Given the description of an element on the screen output the (x, y) to click on. 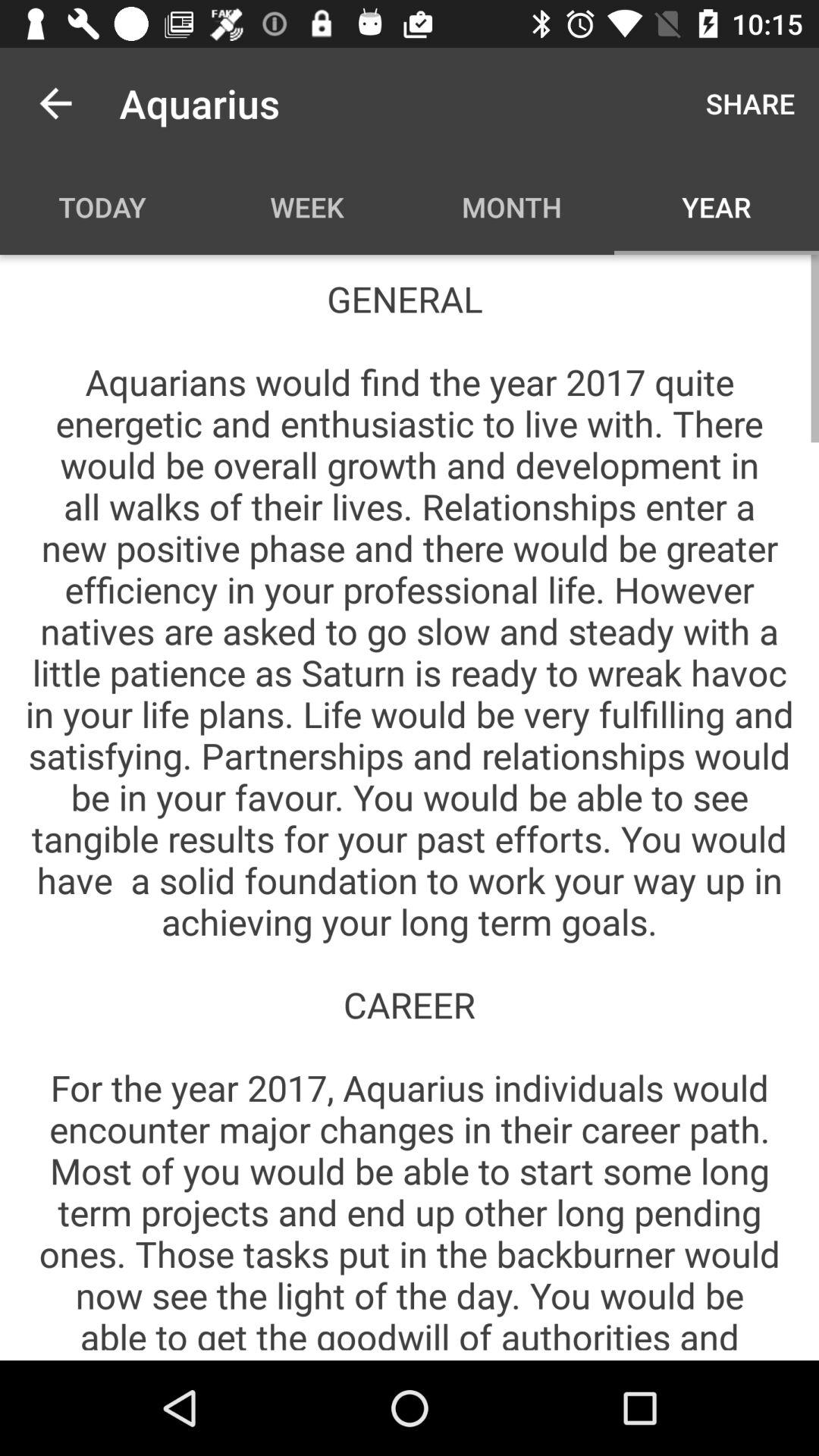
choose the item to the left of the aquarius app (55, 103)
